Given the description of an element on the screen output the (x, y) to click on. 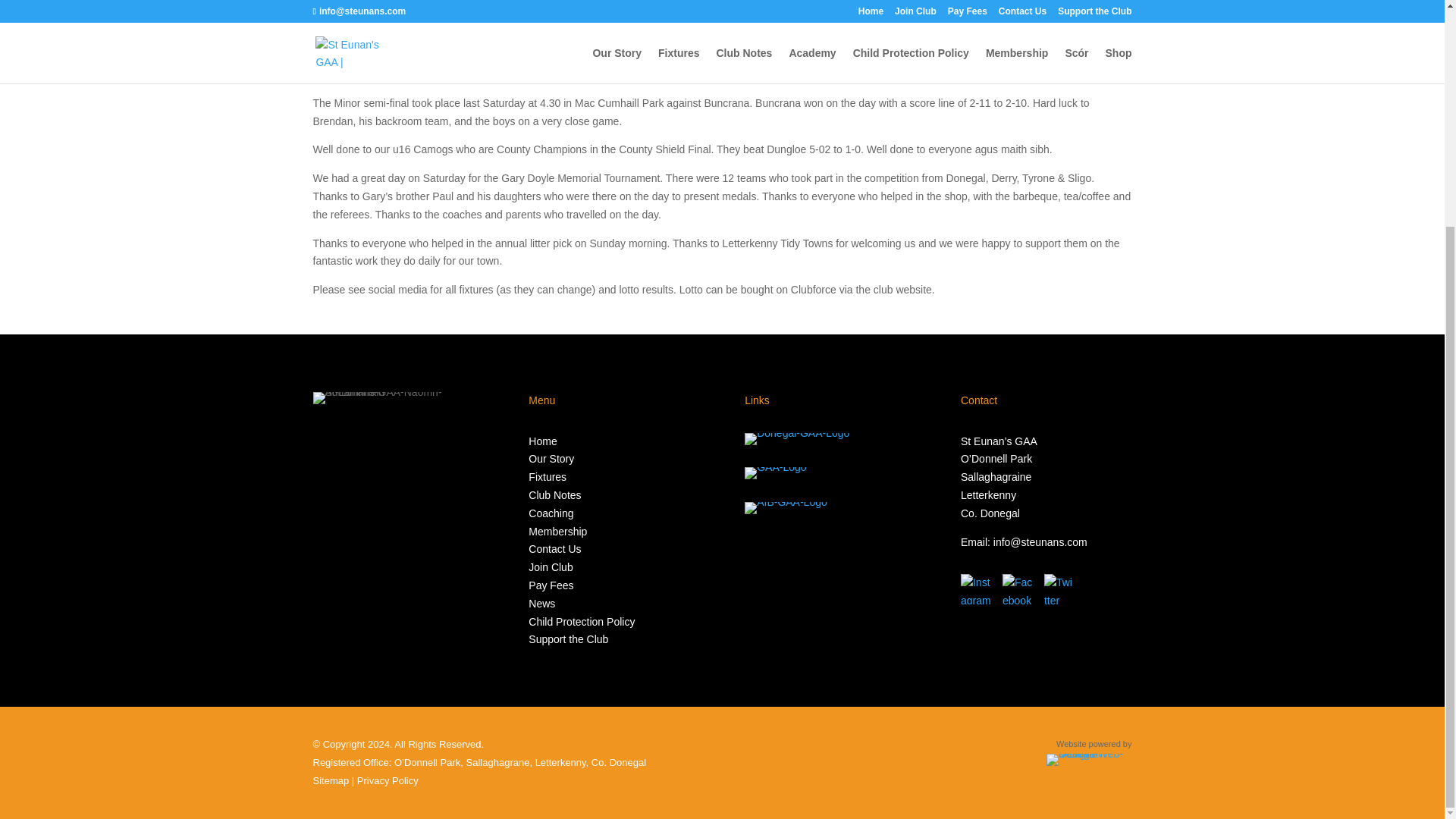
Pay Fees (550, 585)
Membership (557, 531)
Contact Us (554, 548)
Coaching (550, 512)
Support the Club (568, 639)
Club Notes (554, 494)
Child Protection Policy (581, 621)
Fixtures (547, 476)
St. Eunan's GAA Naomh Adhamhnain (398, 398)
News (541, 603)
AIB GAA Logo (785, 508)
Our Story (550, 458)
Join Club (550, 567)
Home (542, 440)
GAA Logo (775, 472)
